Given the description of an element on the screen output the (x, y) to click on. 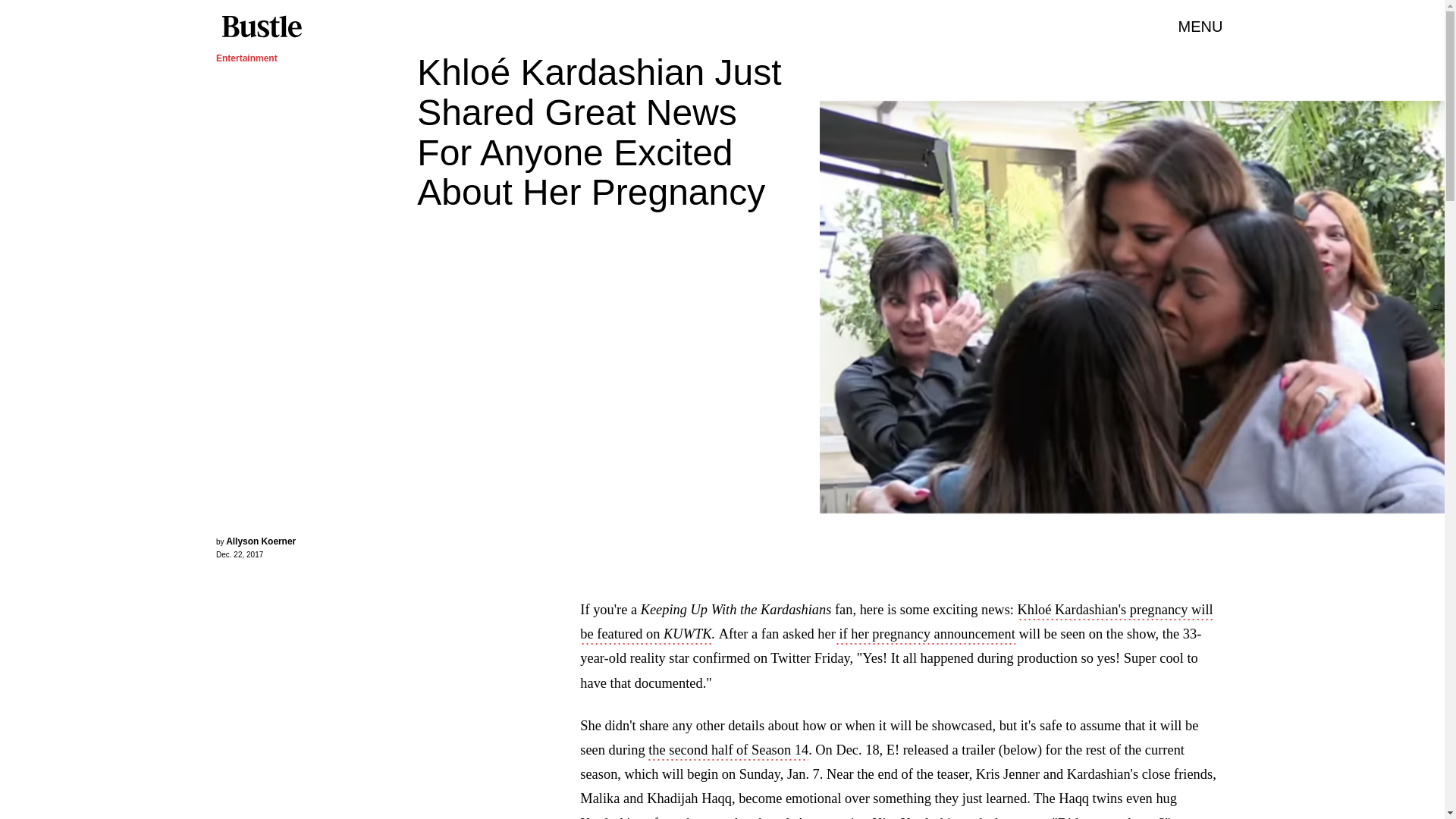
Allyson Koerner (260, 541)
if her pregnancy announcement (924, 635)
E! (1436, 306)
Bustle (261, 26)
the second half of Season 14 (727, 751)
